Given the description of an element on the screen output the (x, y) to click on. 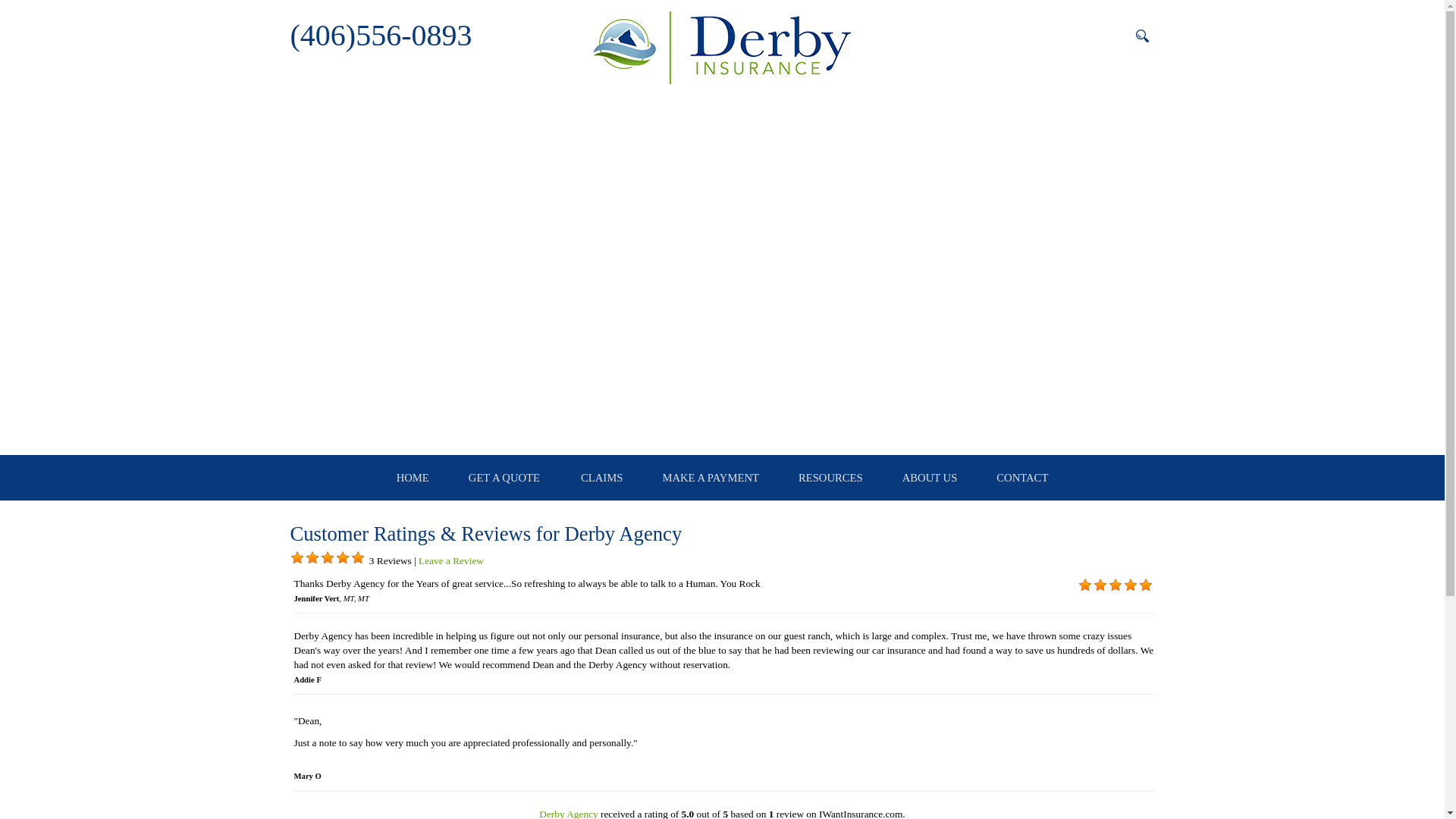
GET A QUOTE (504, 477)
5.0 (311, 558)
5.0 (357, 558)
CONTACT (1021, 477)
2 (1099, 585)
CLAIMS (602, 477)
5 (357, 558)
5 (1115, 585)
Derby Agency (567, 813)
MAKE A PAYMENT (710, 477)
